Given the description of an element on the screen output the (x, y) to click on. 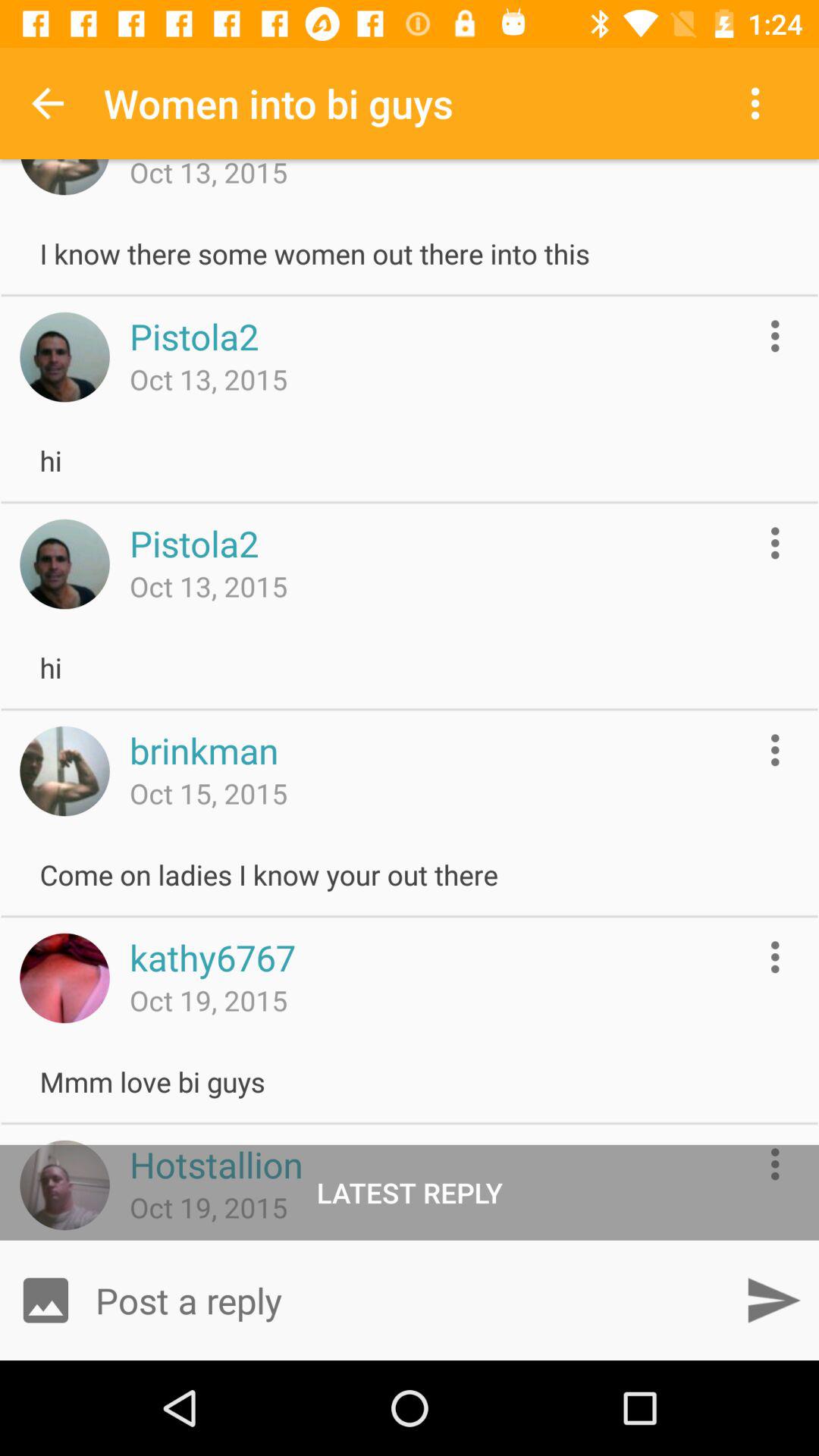
click icon above the oct 15, 2015 (203, 750)
